Given the description of an element on the screen output the (x, y) to click on. 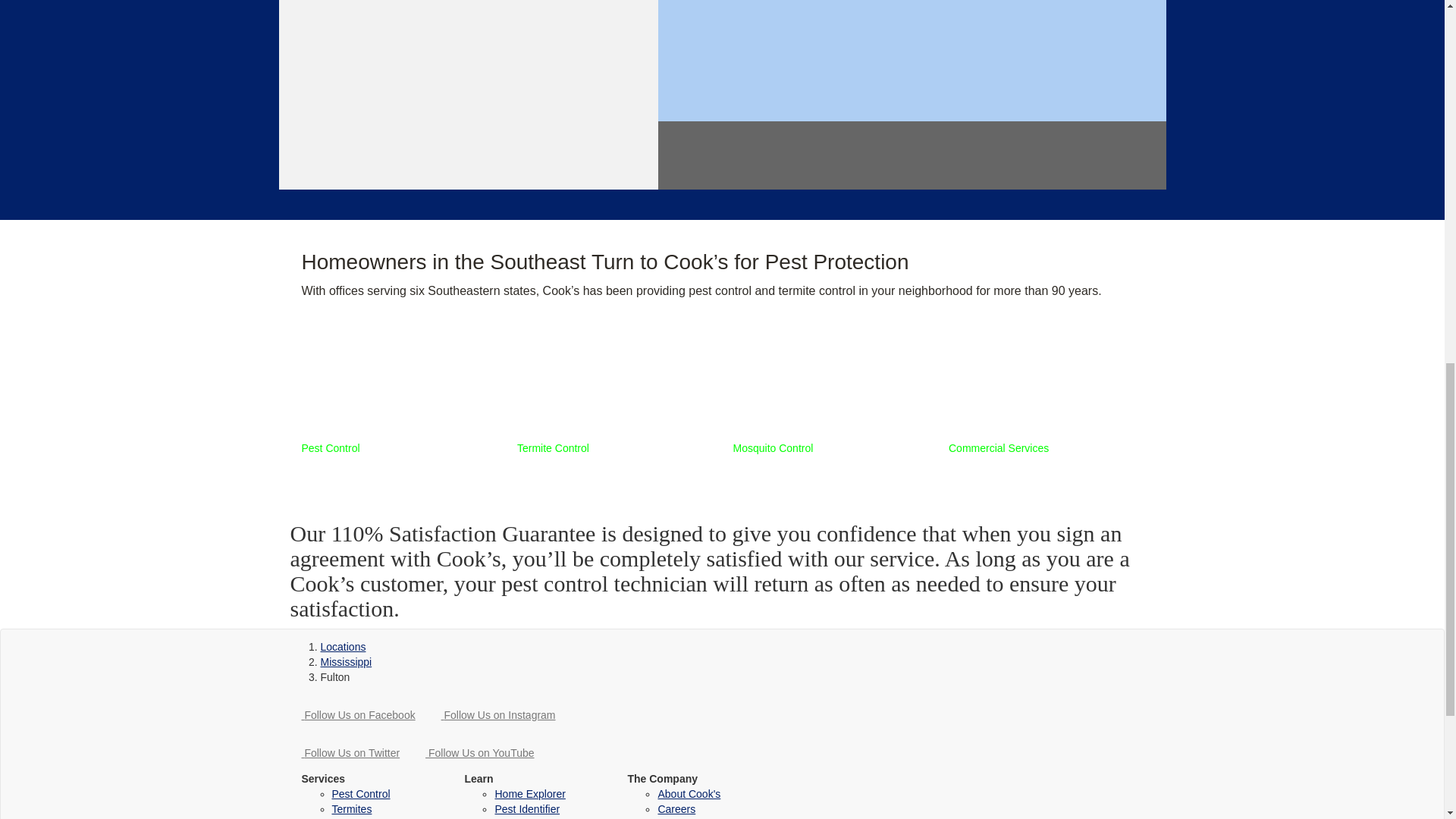
Termite Control (613, 393)
Mosquito Control (829, 393)
Pest Control (398, 393)
